Given the description of an element on the screen output the (x, y) to click on. 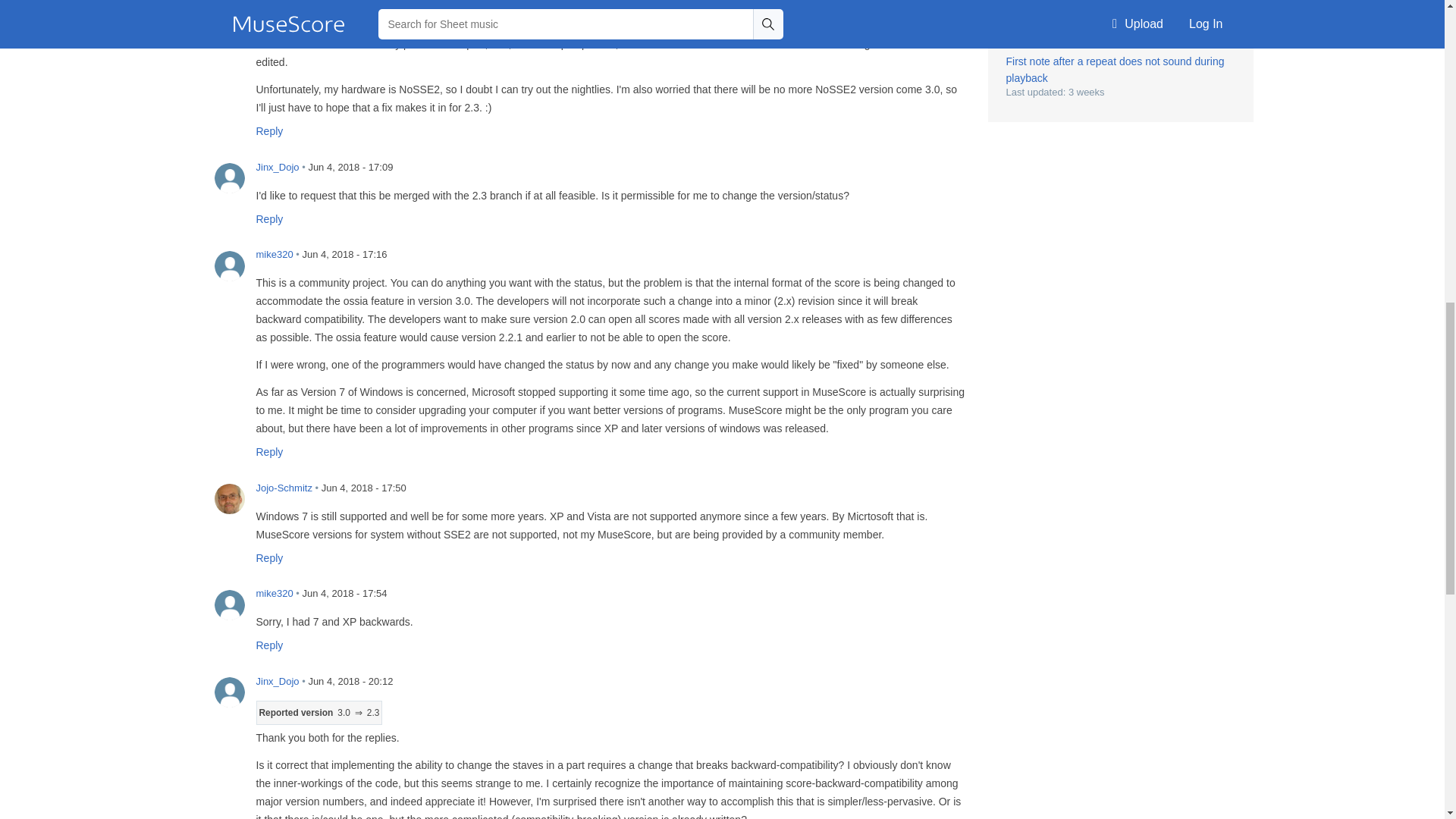
mike320 (229, 604)
Jojo-Schmitz (229, 499)
mike320 (229, 265)
